Given the description of an element on the screen output the (x, y) to click on. 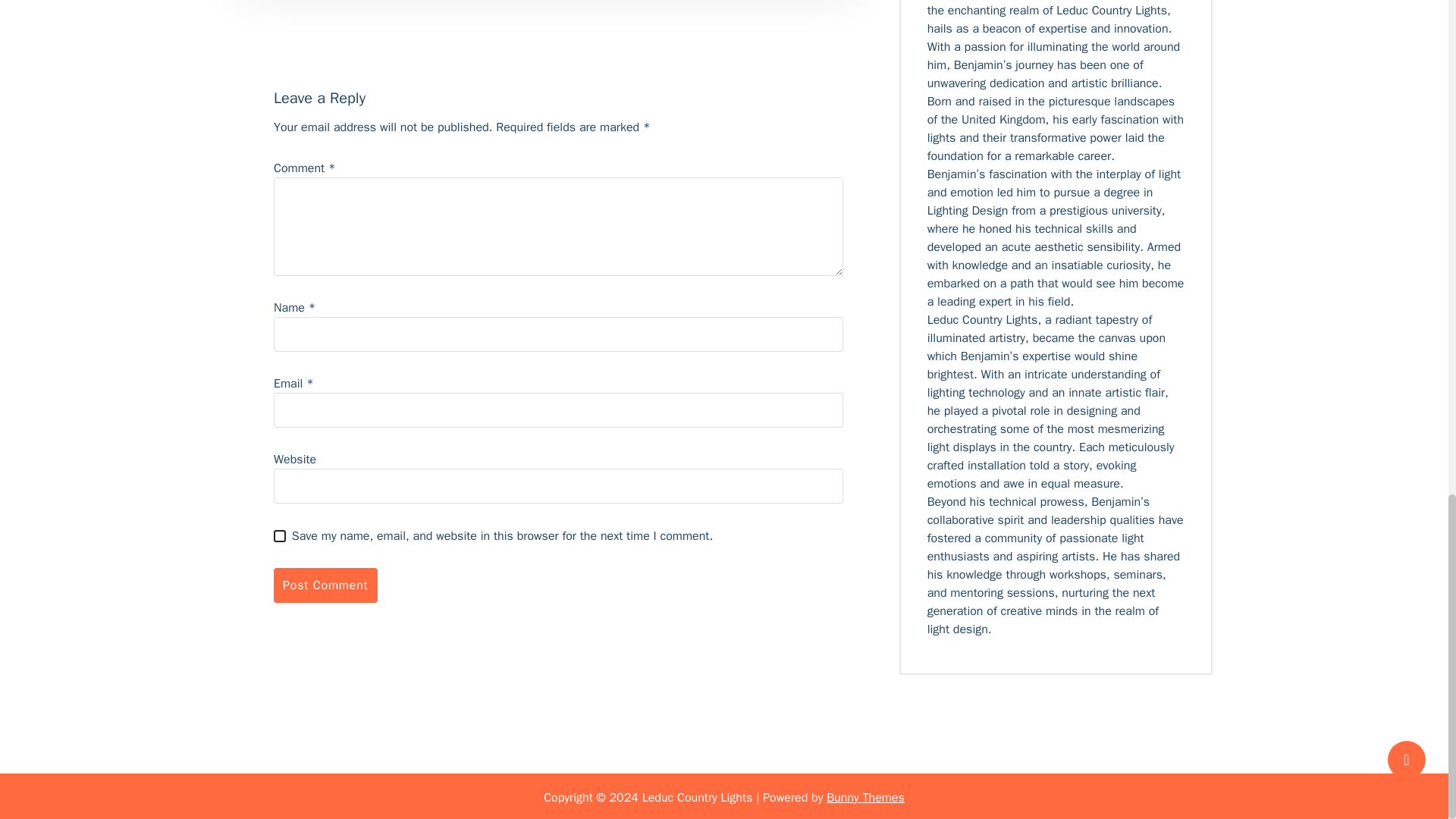
Bunny Themes (865, 796)
Post Comment (325, 585)
yes (279, 535)
Post Comment (325, 585)
